Given the description of an element on the screen output the (x, y) to click on. 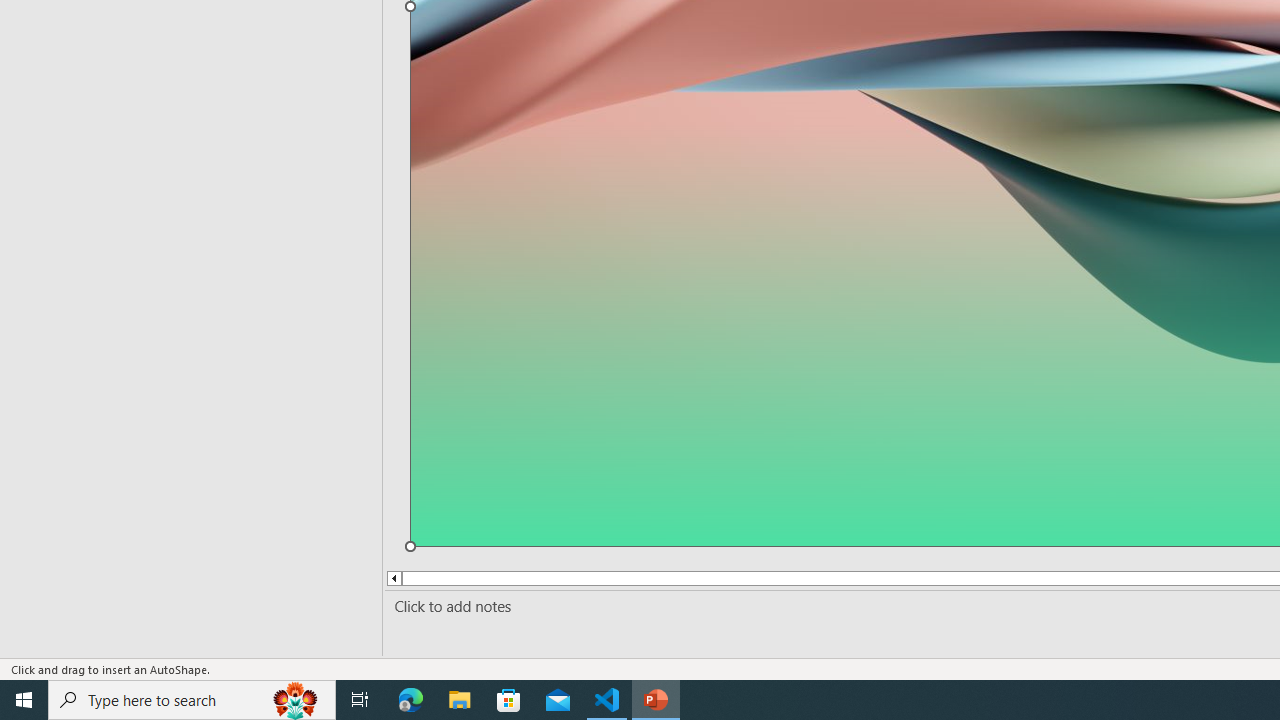
Microsoft Edge (411, 699)
